Given the description of an element on the screen output the (x, y) to click on. 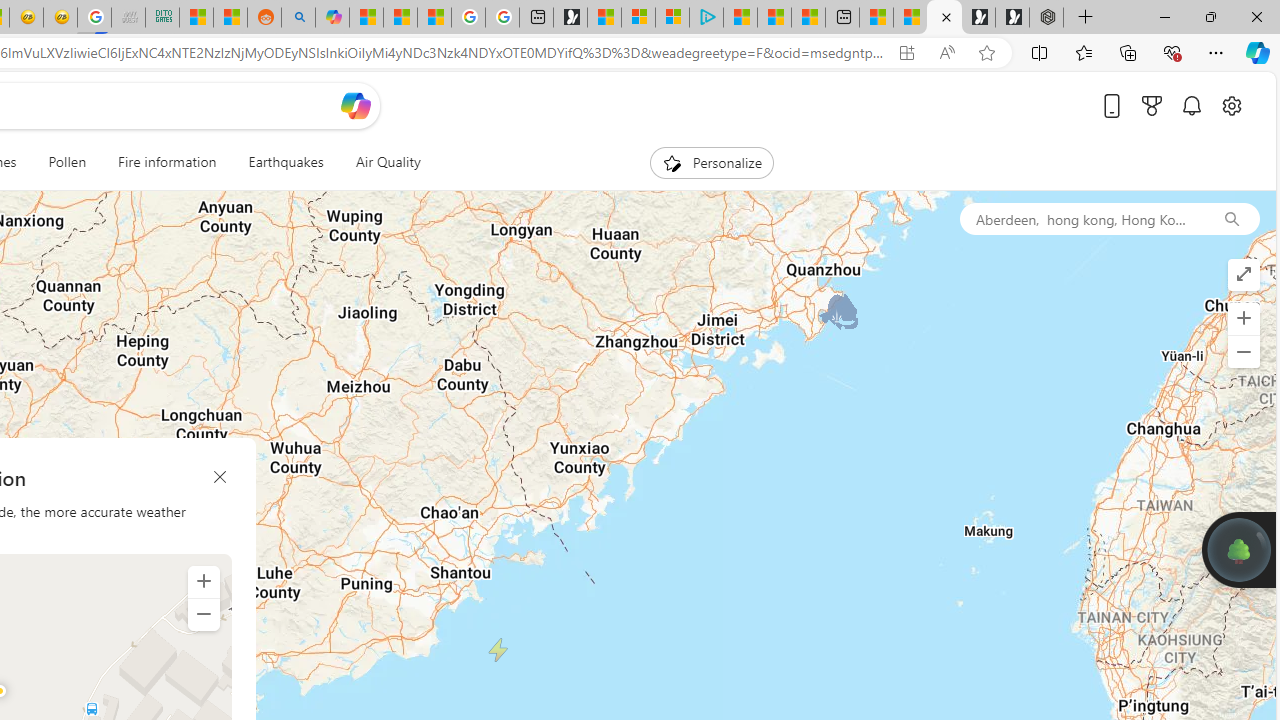
New tab (841, 17)
Open Copilot (356, 105)
To get missing image descriptions, open the context menu. (671, 162)
Join us in planting real trees to help our planet! (1239, 549)
Nordace - Nordace Siena Is Not An Ordinary Backpack (1046, 17)
Join us in planting real trees to help our planet! (1239, 548)
Microsoft rewards (1151, 105)
Zoom out (204, 614)
Fire information (167, 162)
